Given the description of an element on the screen output the (x, y) to click on. 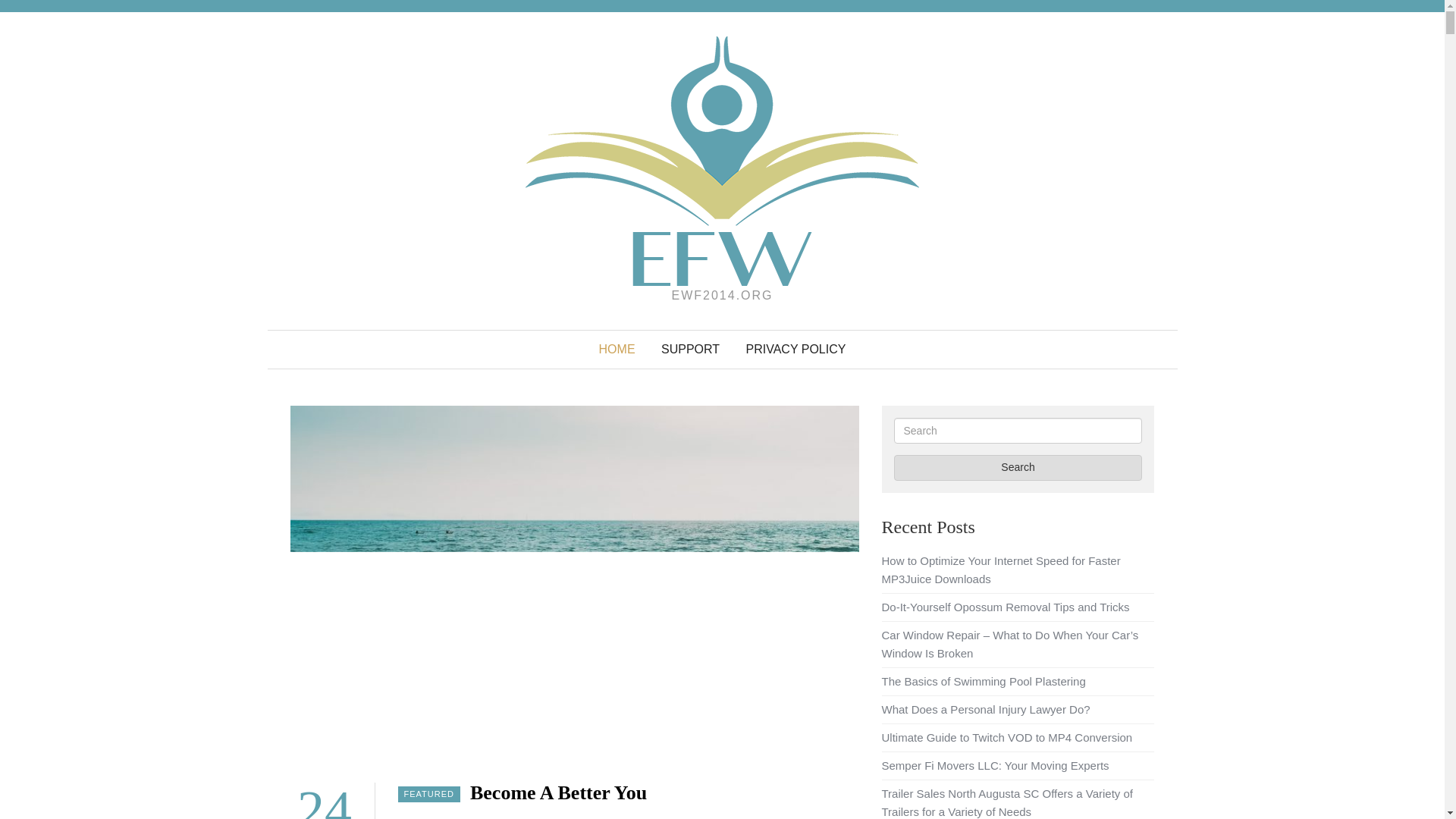
HOME (617, 349)
Become A Better You (558, 792)
SUPPORT (689, 349)
PRIVACY POLICY (796, 349)
